Given the description of an element on the screen output the (x, y) to click on. 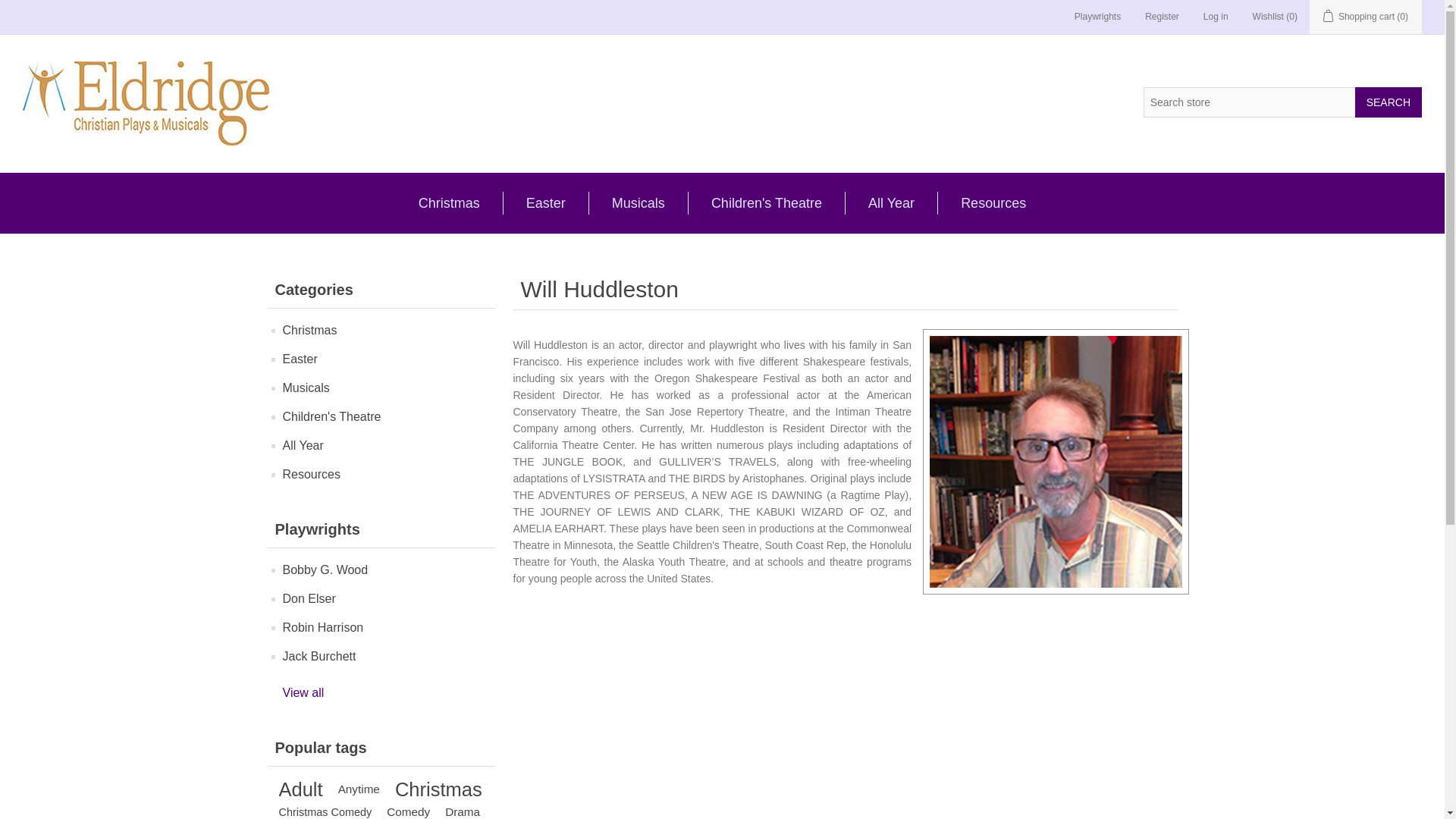
Resources (993, 202)
Search (1388, 101)
Search (1388, 101)
Search (1388, 101)
Children's Theatre (766, 202)
Christmas (448, 202)
Playwrights (1097, 17)
Register (1161, 17)
Musicals (638, 202)
Easter (545, 202)
All Year (890, 202)
